Given the description of an element on the screen output the (x, y) to click on. 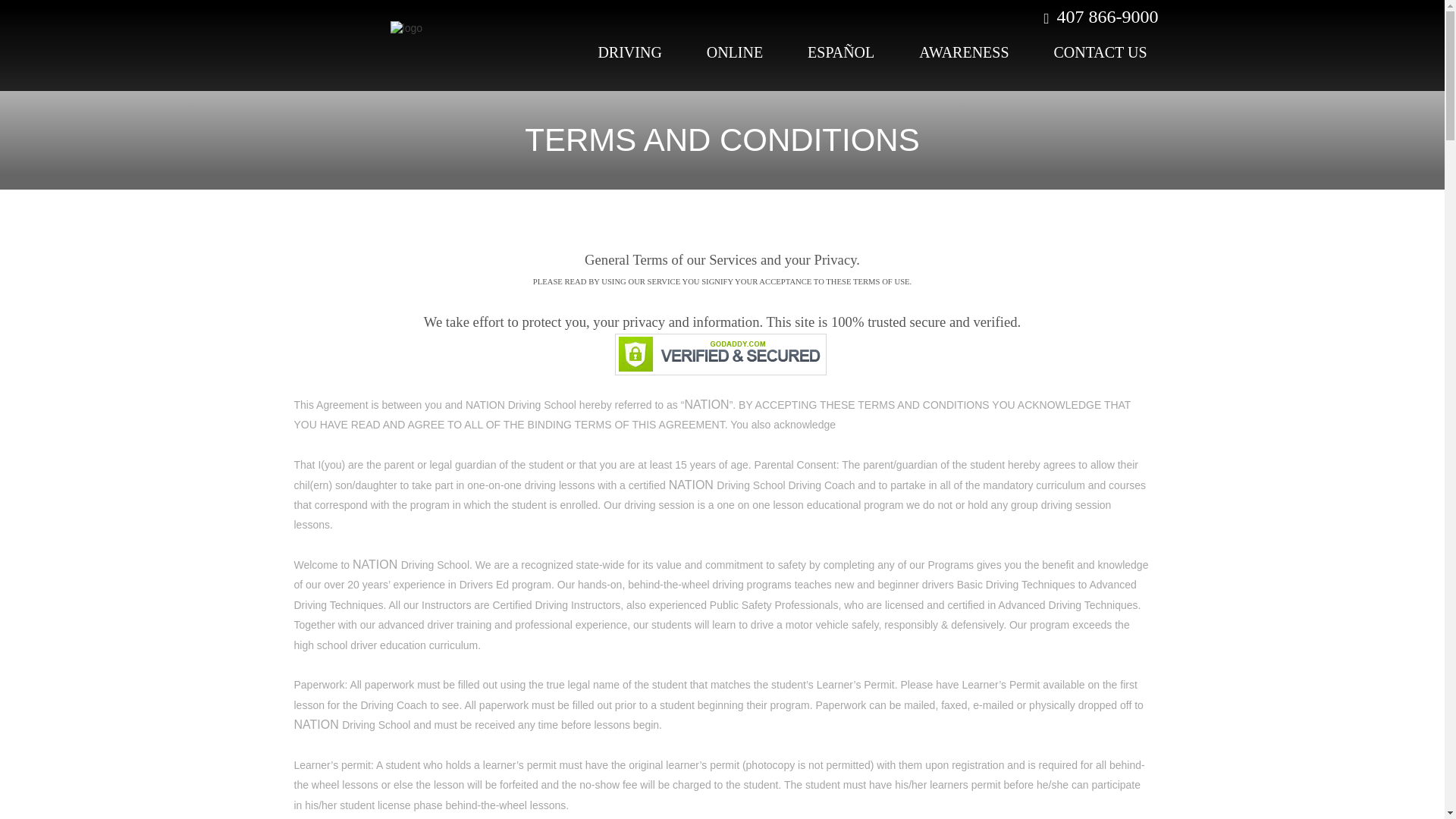
AWARENESS (963, 51)
407 866-9000 (1097, 16)
ONLINE (734, 51)
DRIVING (629, 51)
CONTACT US (1099, 51)
